Given the description of an element on the screen output the (x, y) to click on. 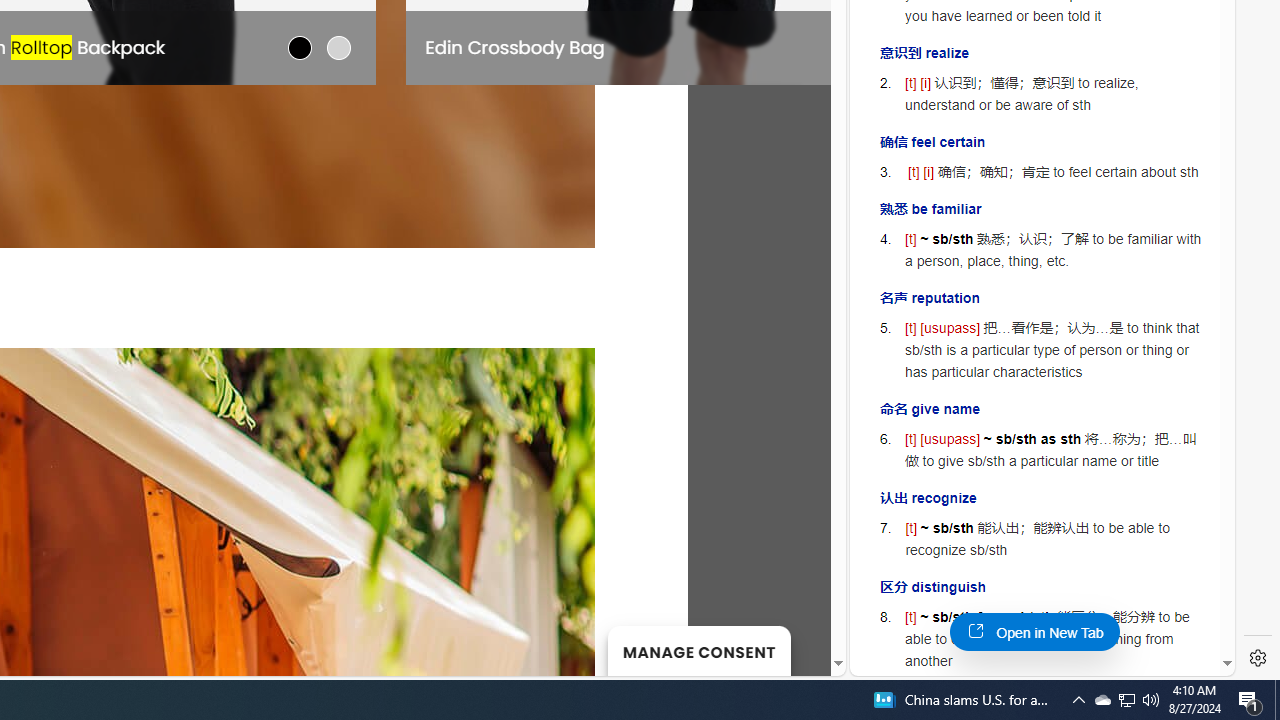
MANAGE CONSENT (698, 650)
